Given the description of an element on the screen output the (x, y) to click on. 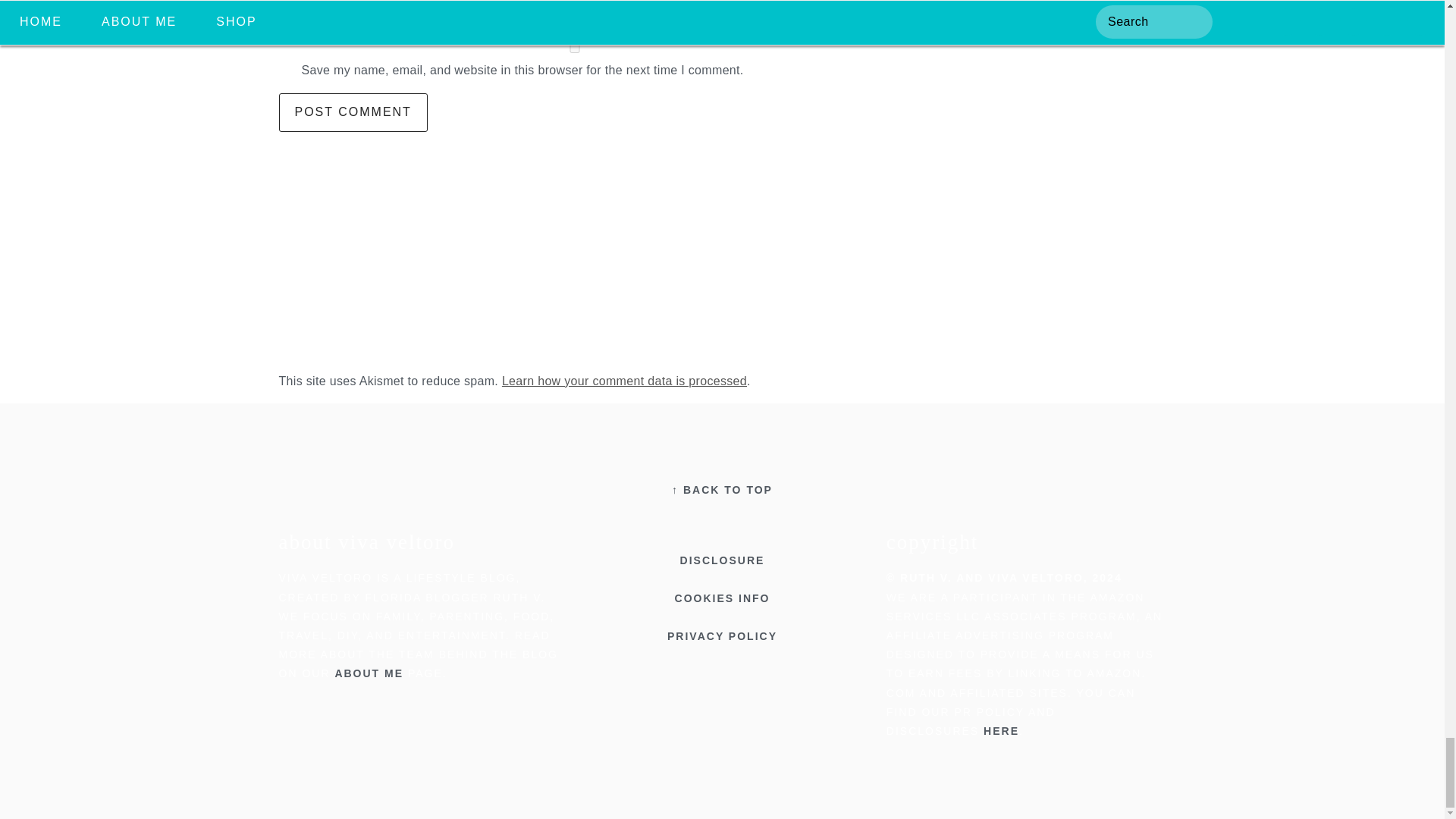
yes (574, 48)
Post Comment (353, 112)
